Given the description of an element on the screen output the (x, y) to click on. 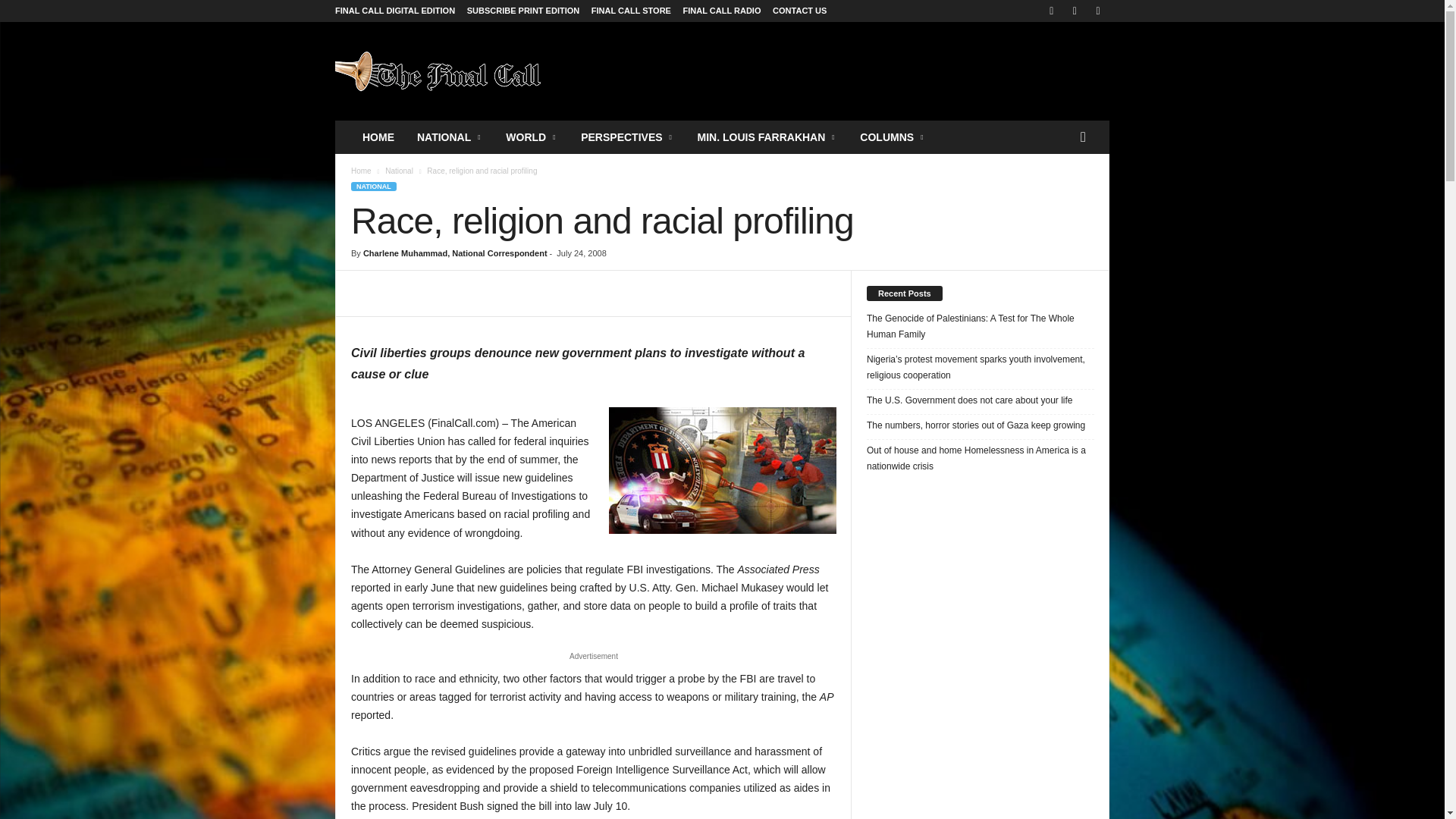
CONTACT US (800, 10)
FINAL CALL DIGITAL EDITION (394, 10)
FINAL CALL RADIO (721, 10)
NATIONAL (450, 136)
Final Call News (437, 70)
HOME (378, 136)
FINAL CALL STORE (631, 10)
SUBSCRIBE PRINT EDITION (523, 10)
